Given the description of an element on the screen output the (x, y) to click on. 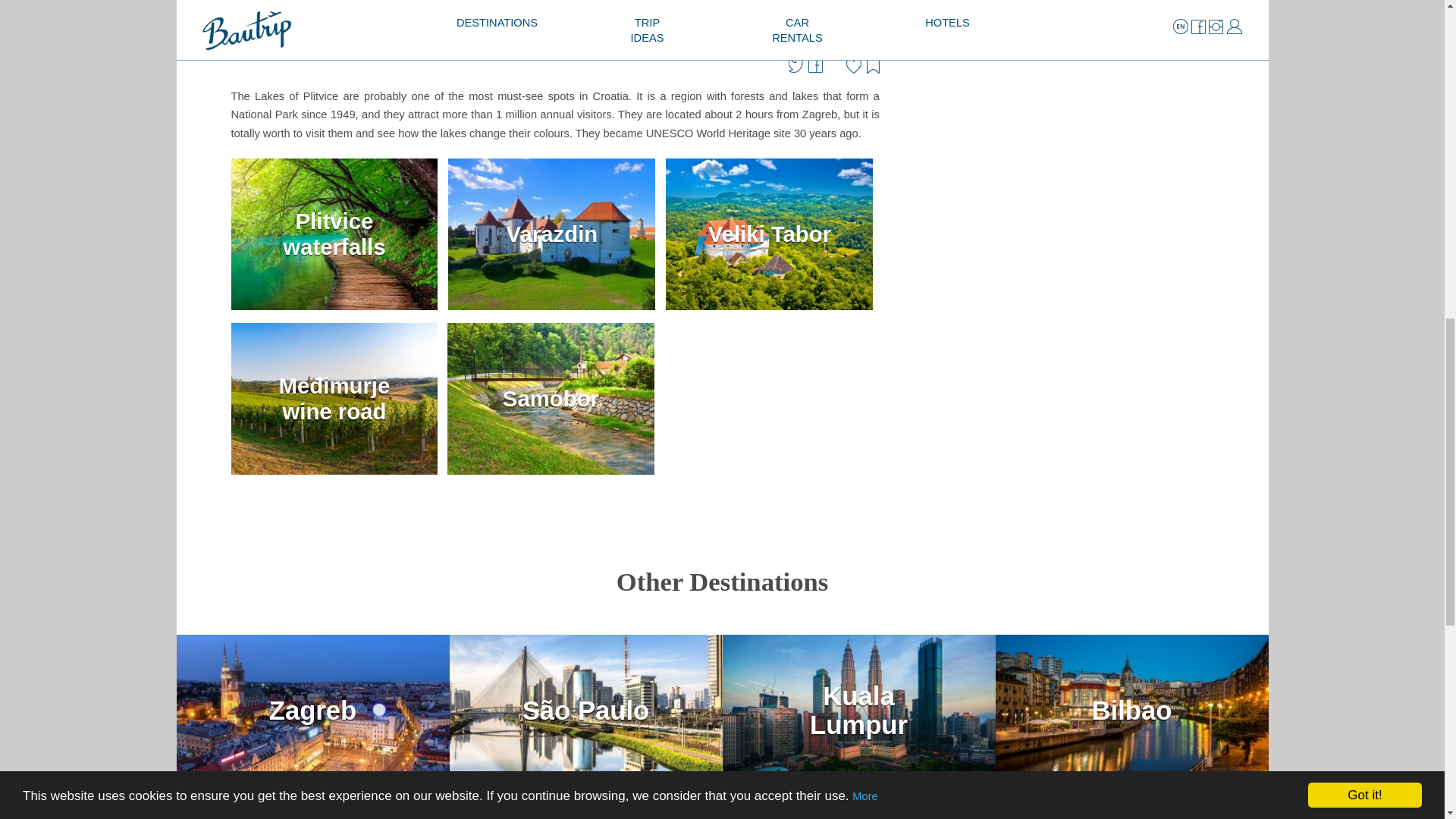
Plitvice waterfalls (337, 313)
